Given the description of an element on the screen output the (x, y) to click on. 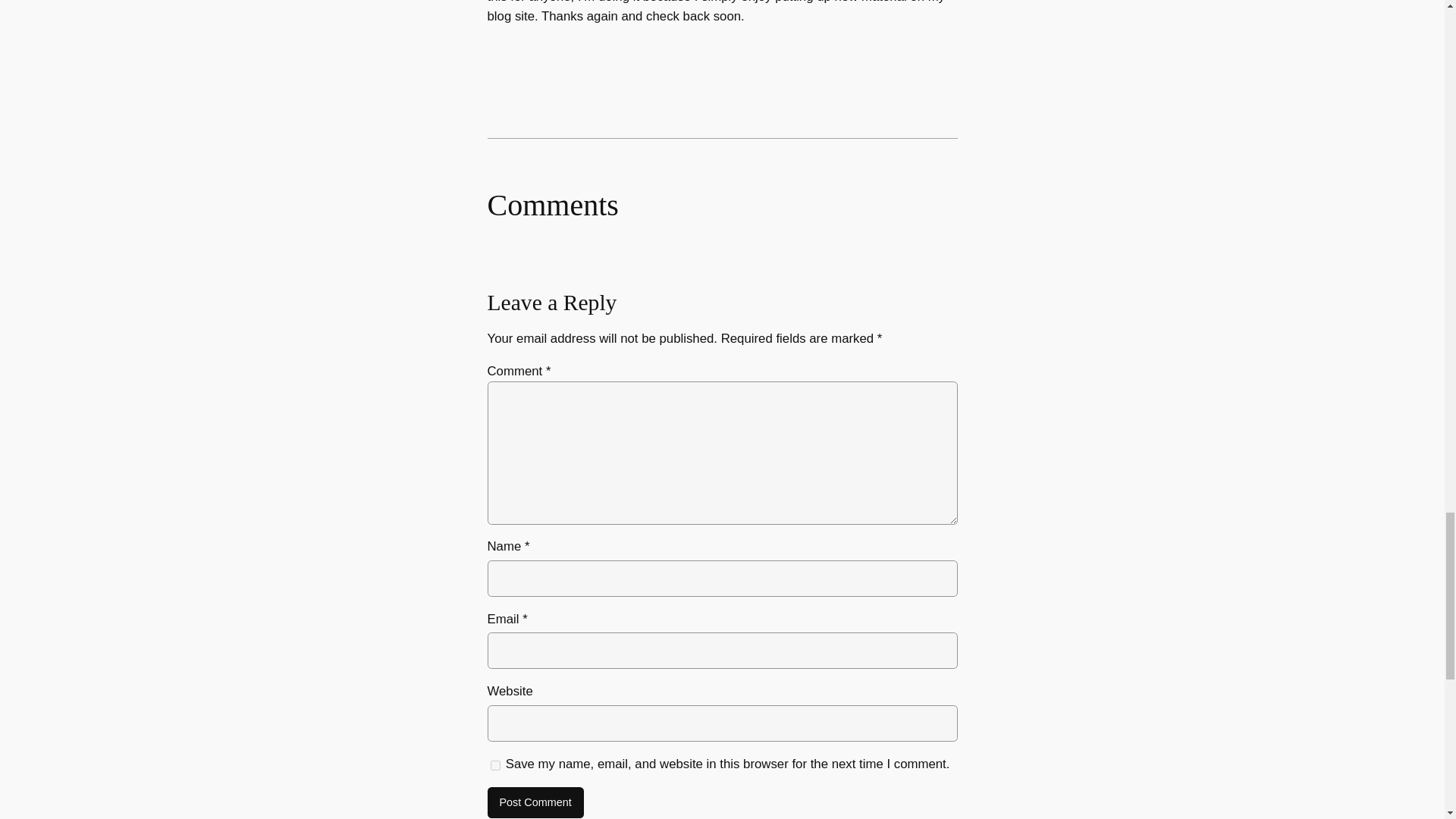
yes (494, 765)
Post Comment (534, 803)
Post Comment (534, 803)
